Given the description of an element on the screen output the (x, y) to click on. 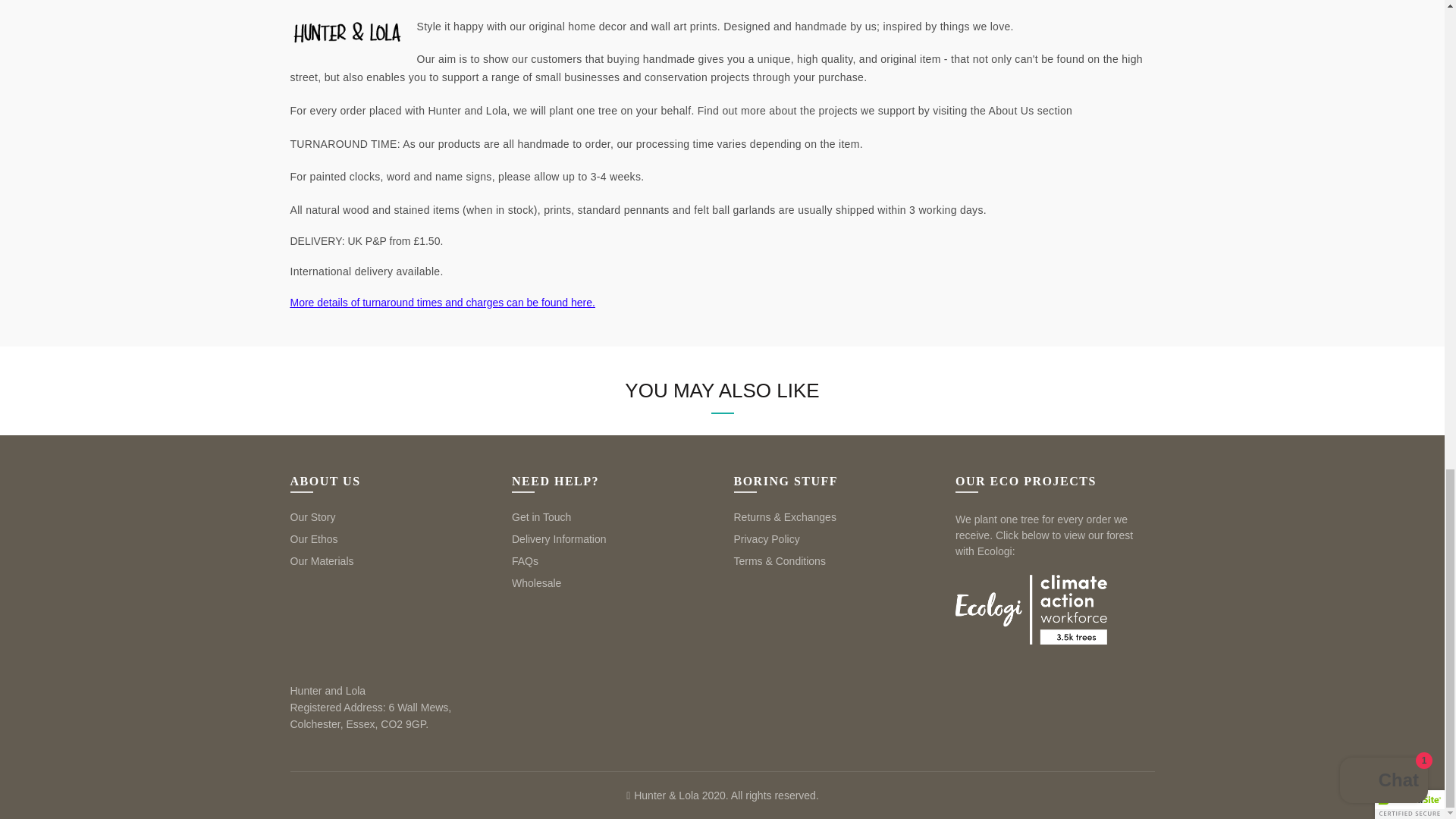
View our Ecologi profile (1030, 608)
Hunter and Lola Delivery (441, 302)
